Given the description of an element on the screen output the (x, y) to click on. 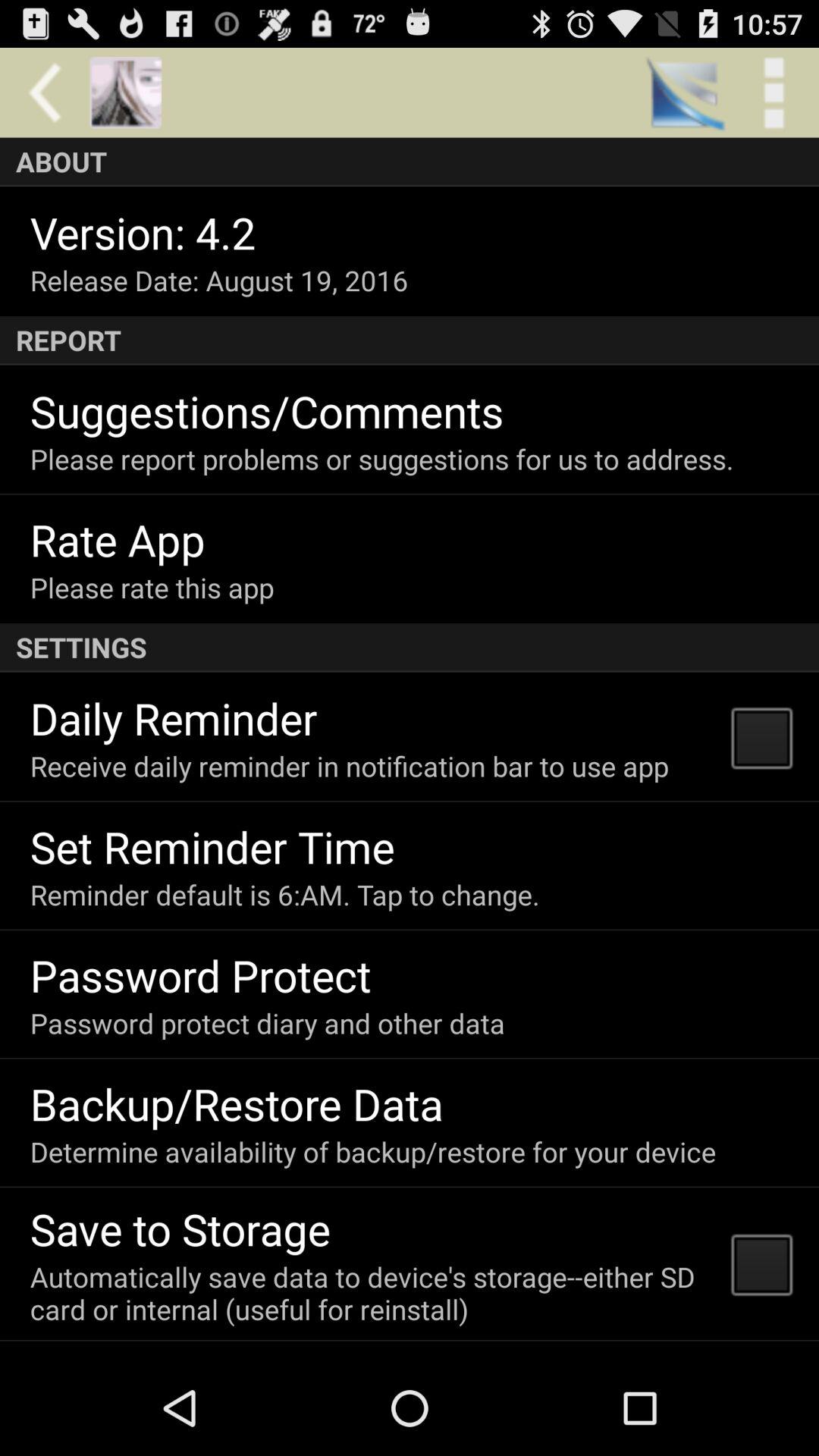
open don t send icon (181, 1356)
